Given the description of an element on the screen output the (x, y) to click on. 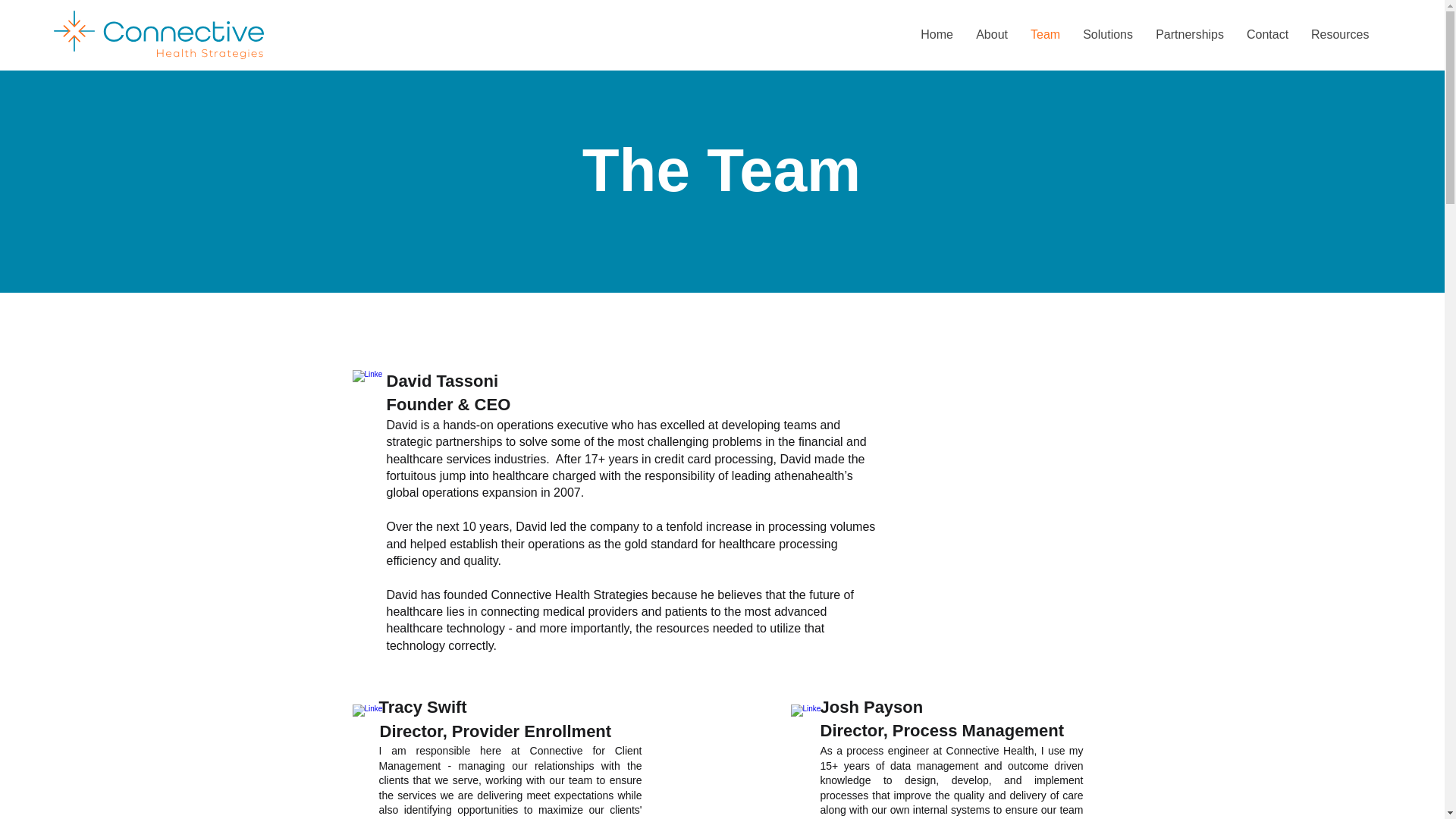
Resources (1340, 34)
Team (1045, 34)
Partnerships (1189, 34)
Solutions (1107, 34)
Home (935, 34)
About (991, 34)
Contact (1267, 34)
